Given the description of an element on the screen output the (x, y) to click on. 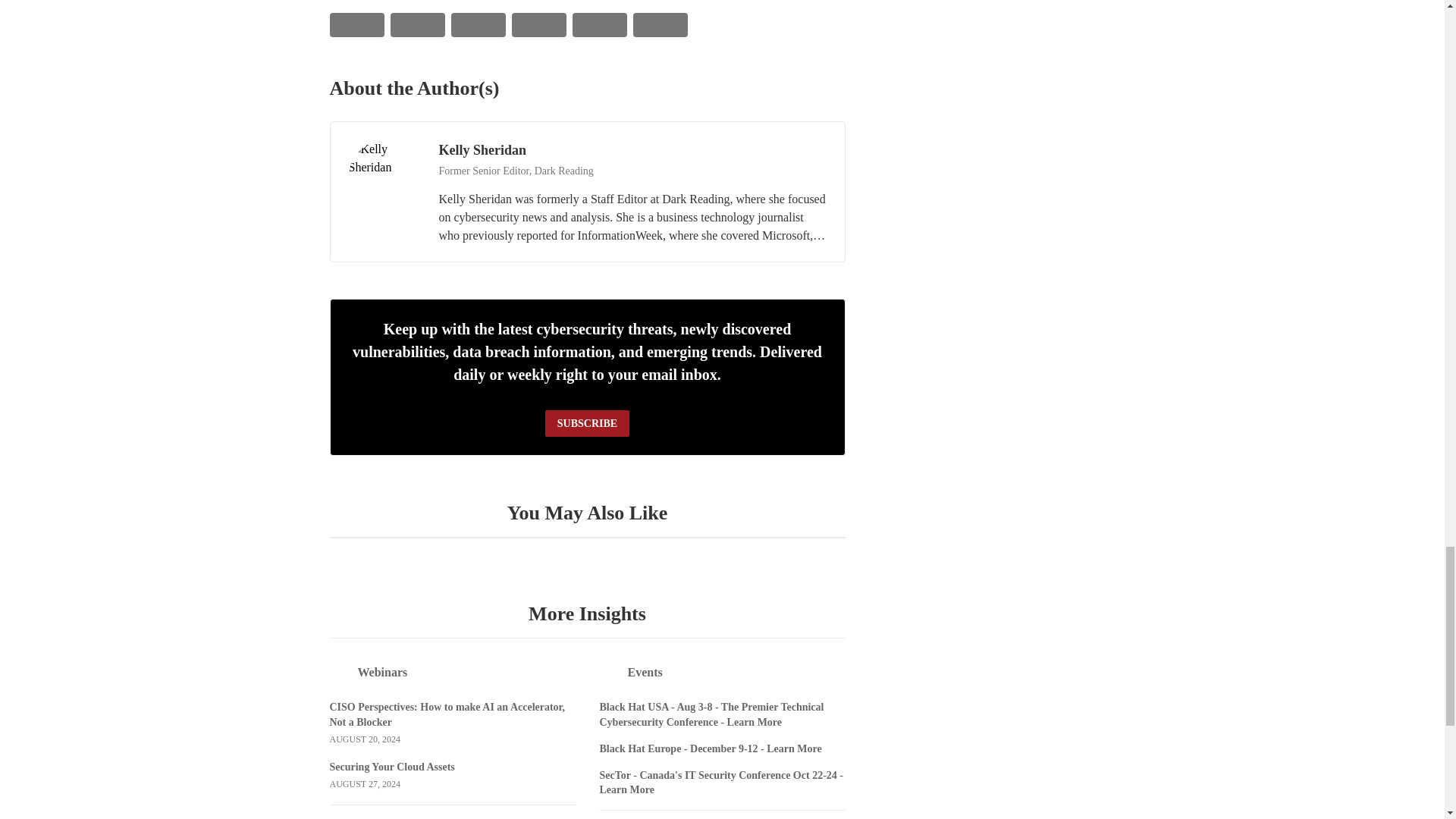
Kelly Sheridan (384, 176)
